Given the description of an element on the screen output the (x, y) to click on. 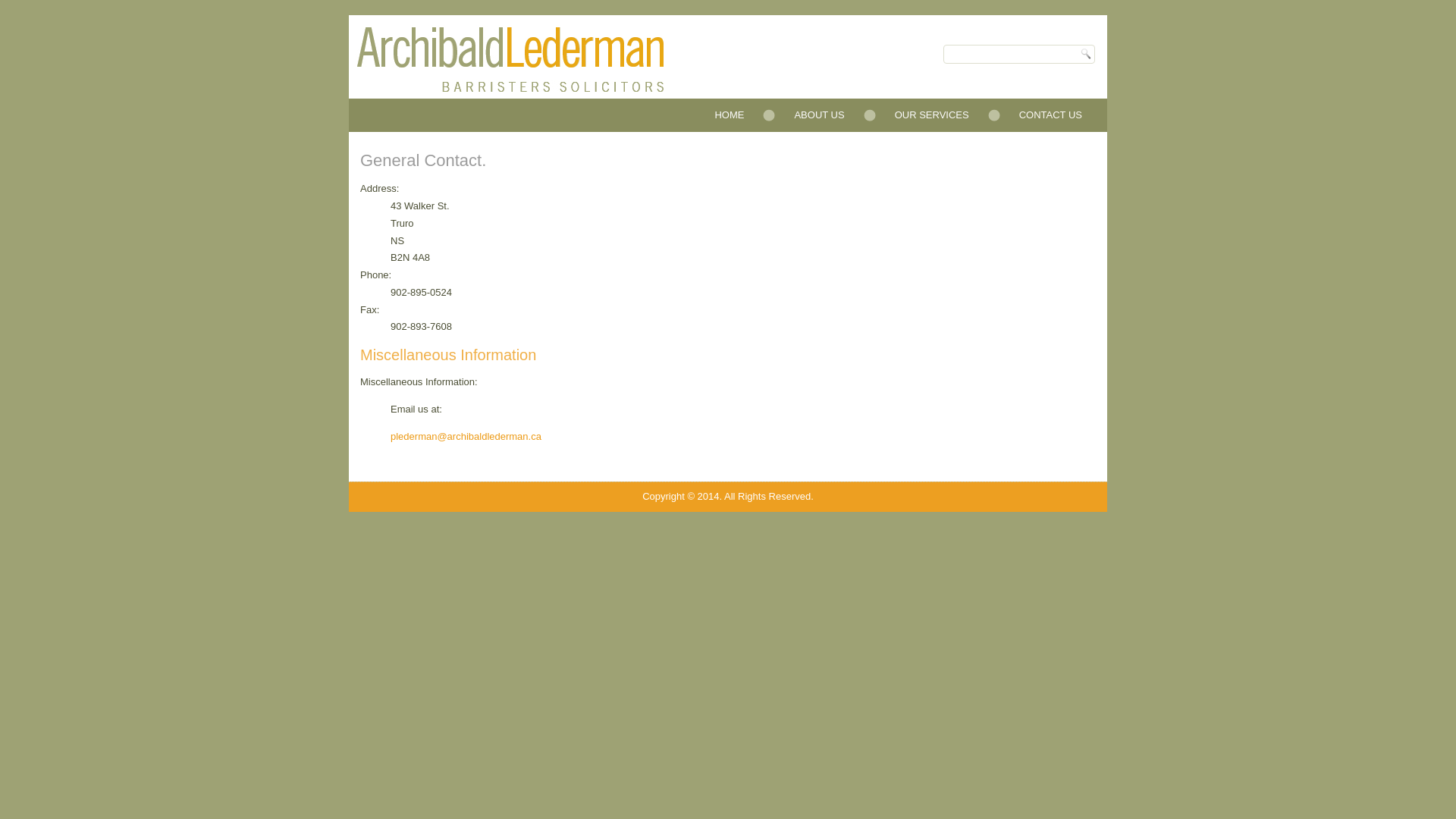
HOME Element type: text (728, 114)
plederman@archibaldlederman.ca Element type: text (465, 436)
OUR SERVICES Element type: text (931, 114)
ABOUT US Element type: text (818, 114)
CONTACT US Element type: text (1050, 114)
